Given the description of an element on the screen output the (x, y) to click on. 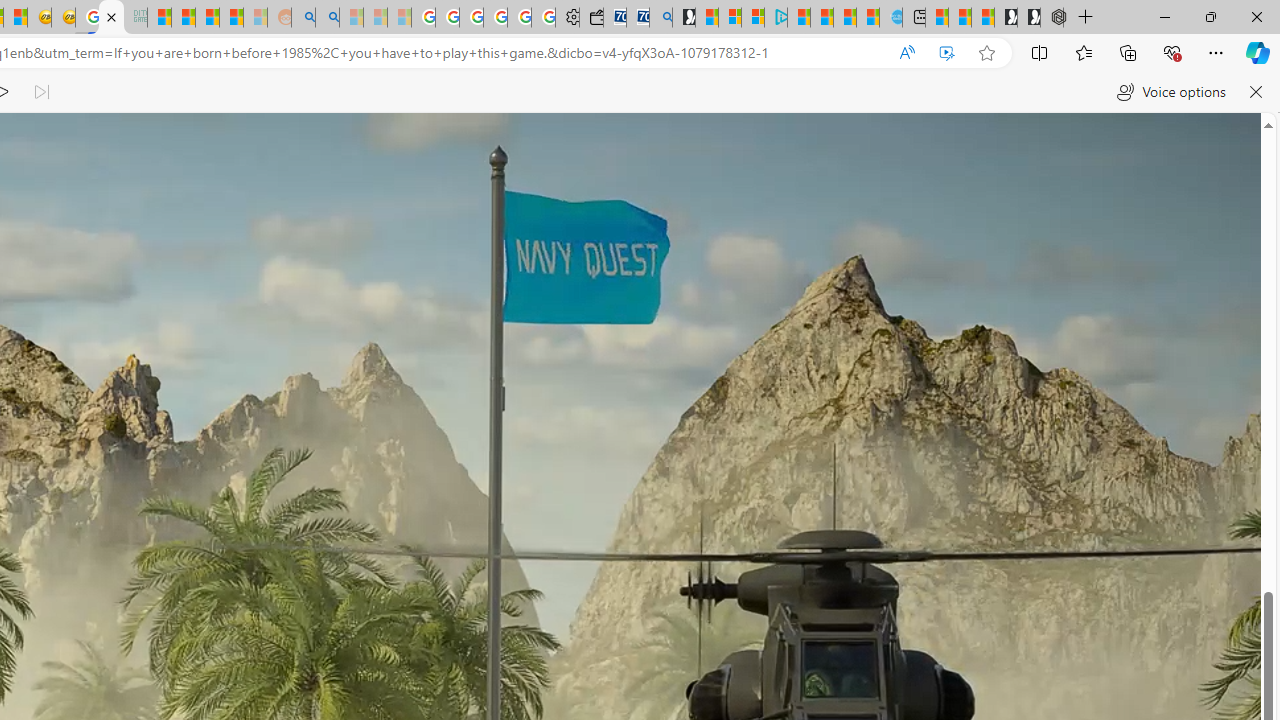
Student Loan Update: Forgiveness Program Ends This Month (231, 17)
